Given the description of an element on the screen output the (x, y) to click on. 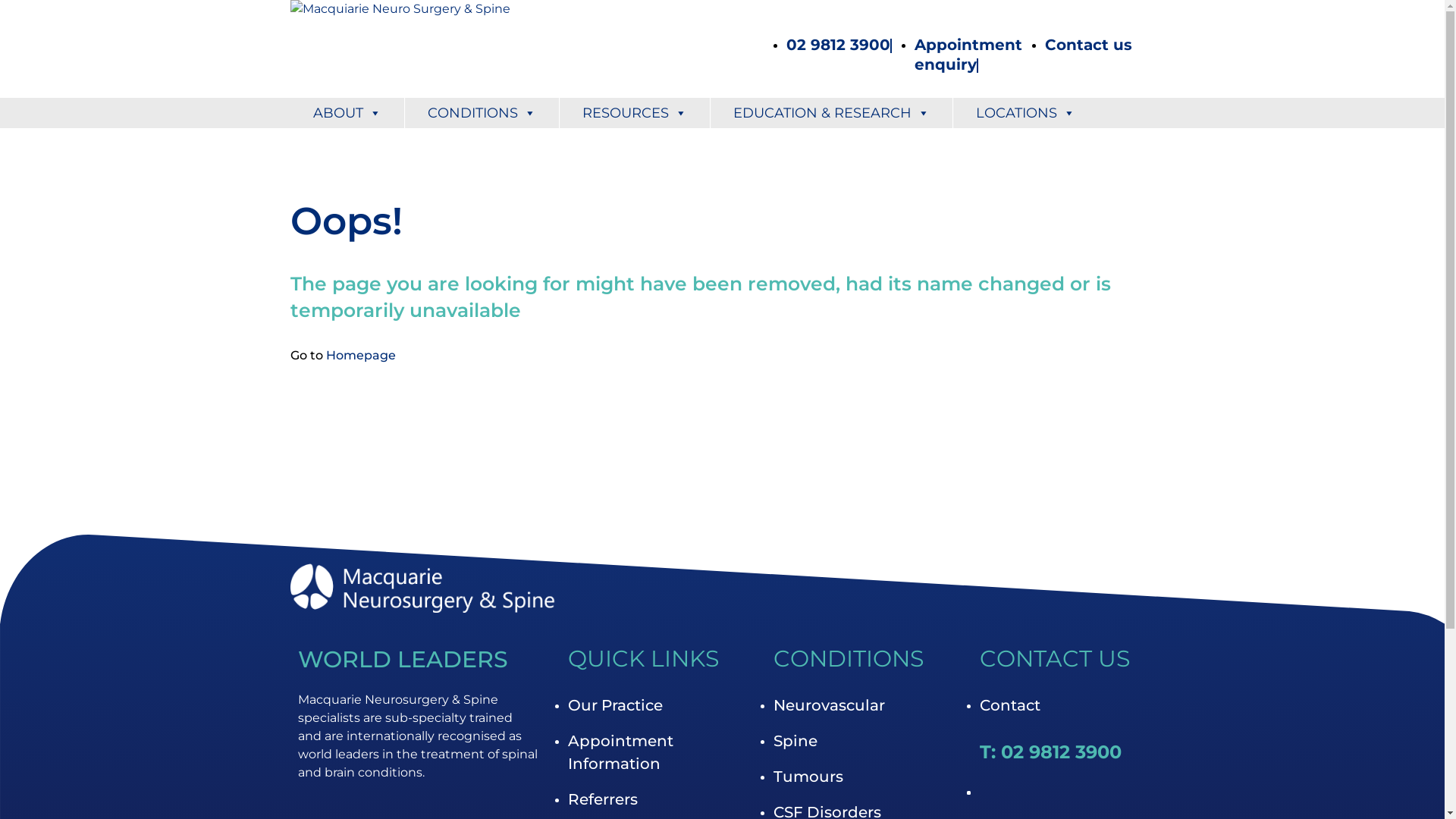
Tumours Element type: text (808, 776)
EDUCATION & RESEARCH Element type: text (830, 112)
ABOUT Element type: text (346, 112)
Appointment
enquiry Element type: text (968, 54)
CONDITIONS Element type: text (481, 112)
LOCATIONS Element type: text (1024, 112)
Homepage Element type: text (360, 355)
Spine Element type: text (795, 740)
02 9812 3900 Element type: text (837, 44)
Our Practice Element type: text (614, 705)
Contact Element type: text (1009, 705)
T: 02 9812 3900 Element type: text (1050, 751)
Referrers Element type: text (602, 799)
Neurovascular Element type: text (828, 705)
RESOURCES Element type: text (634, 112)
Contact us Element type: text (1088, 44)
Appointment Information Element type: text (620, 751)
